Given the description of an element on the screen output the (x, y) to click on. 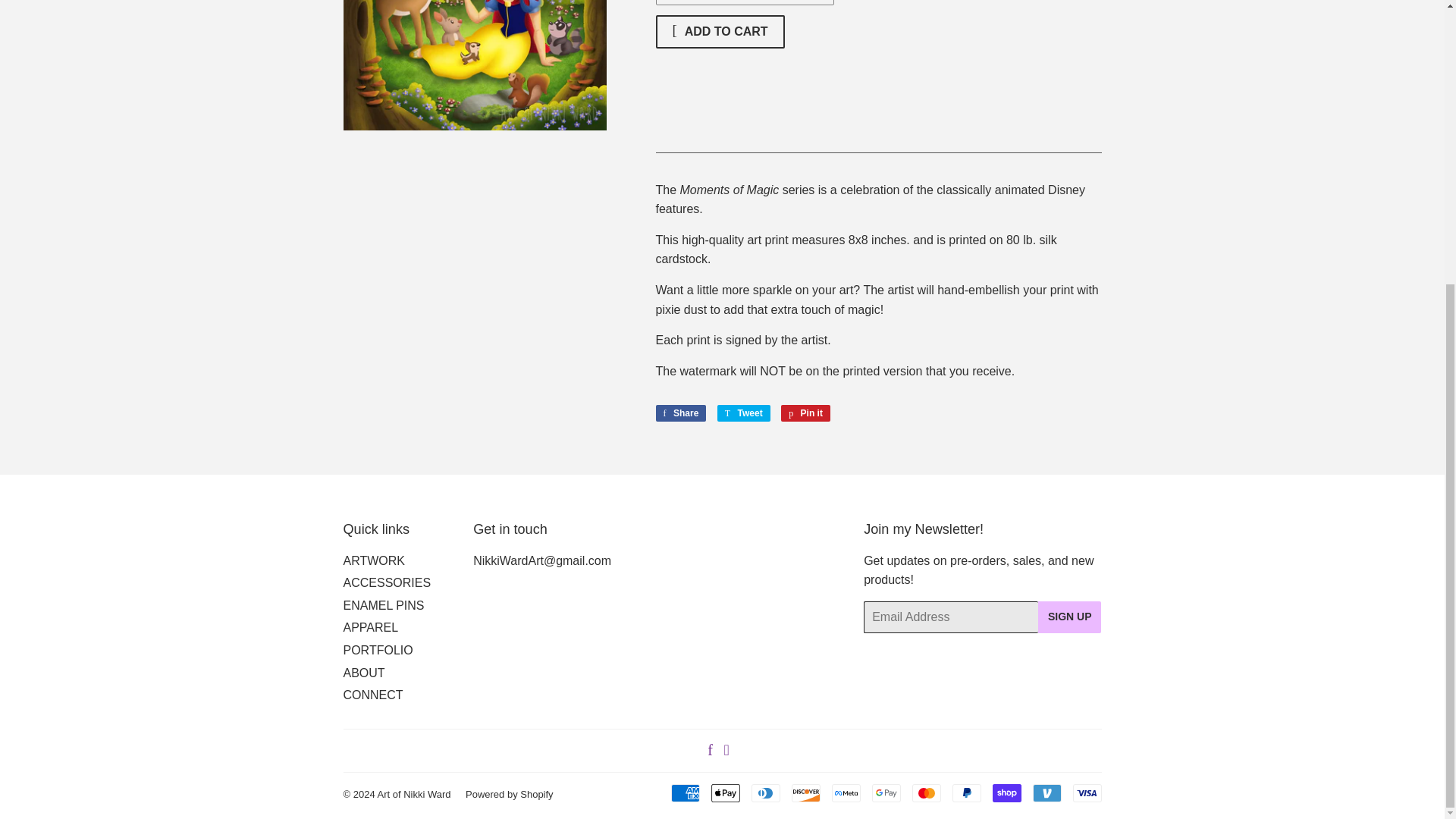
Tweet on Twitter (743, 412)
Mastercard (925, 792)
Share on Facebook (680, 412)
Discover (806, 792)
American Express (683, 792)
Google Pay (886, 792)
PayPal (966, 792)
Diners Club (764, 792)
Venmo (1046, 792)
Apple Pay (725, 792)
